Given the description of an element on the screen output the (x, y) to click on. 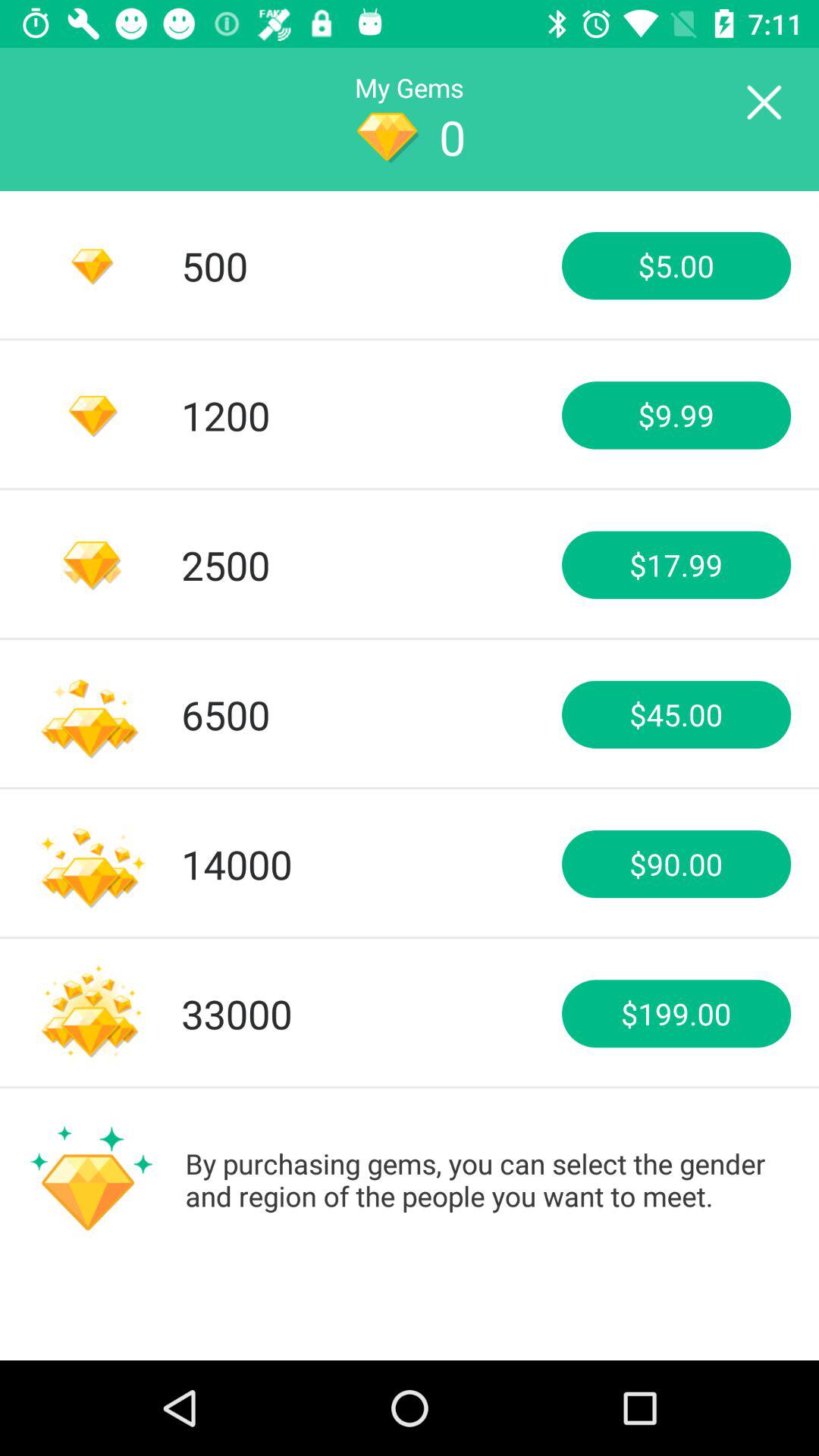
select the icon left side of number 2500 (91, 564)
select the diamond icon at left side of number 500 (91, 266)
click on image left to 33000 (91, 1013)
